Given the description of an element on the screen output the (x, y) to click on. 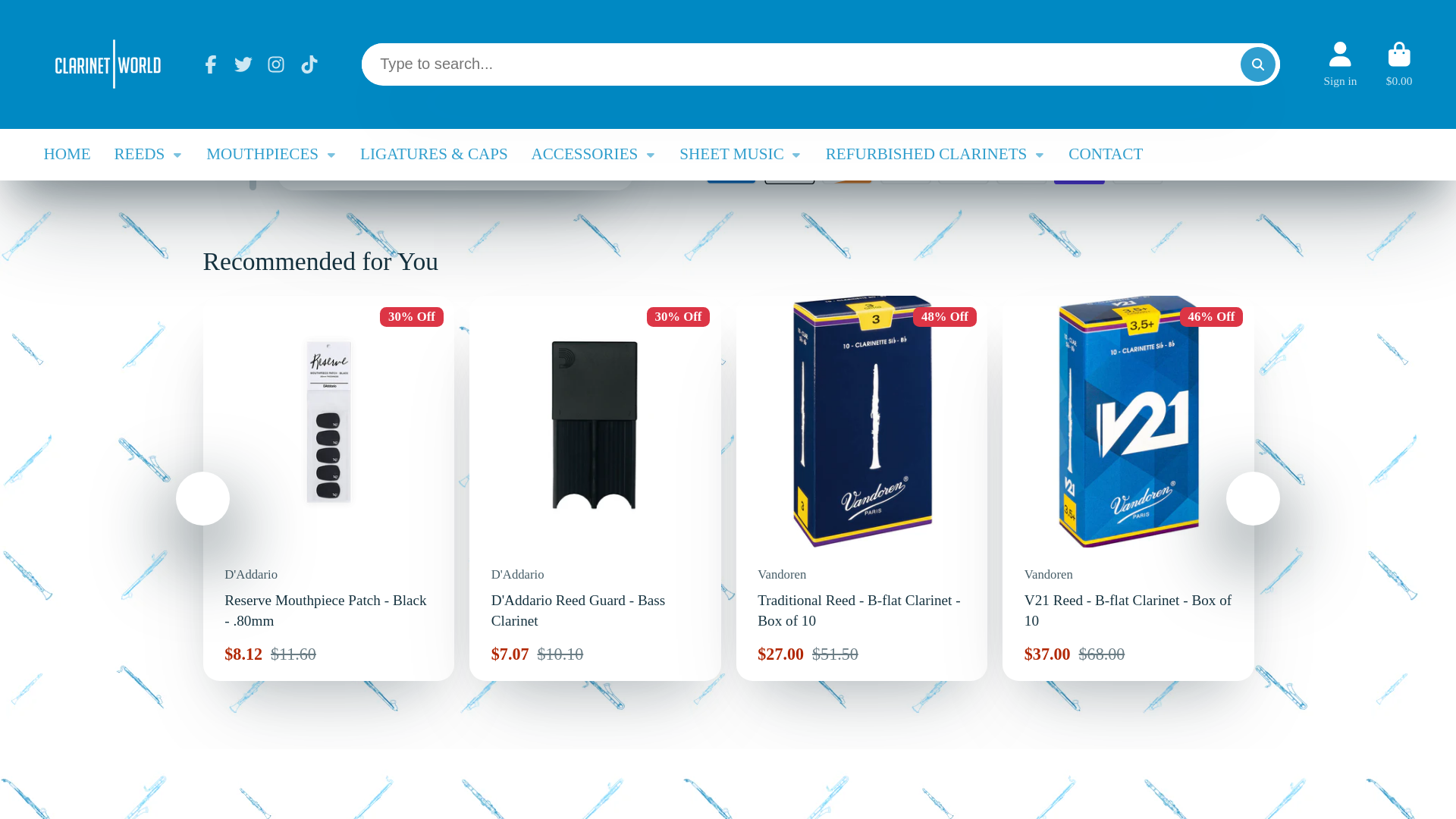
Meta Pay (905, 168)
American Express (731, 168)
Discover (847, 168)
Apple Pay (789, 168)
